Given the description of an element on the screen output the (x, y) to click on. 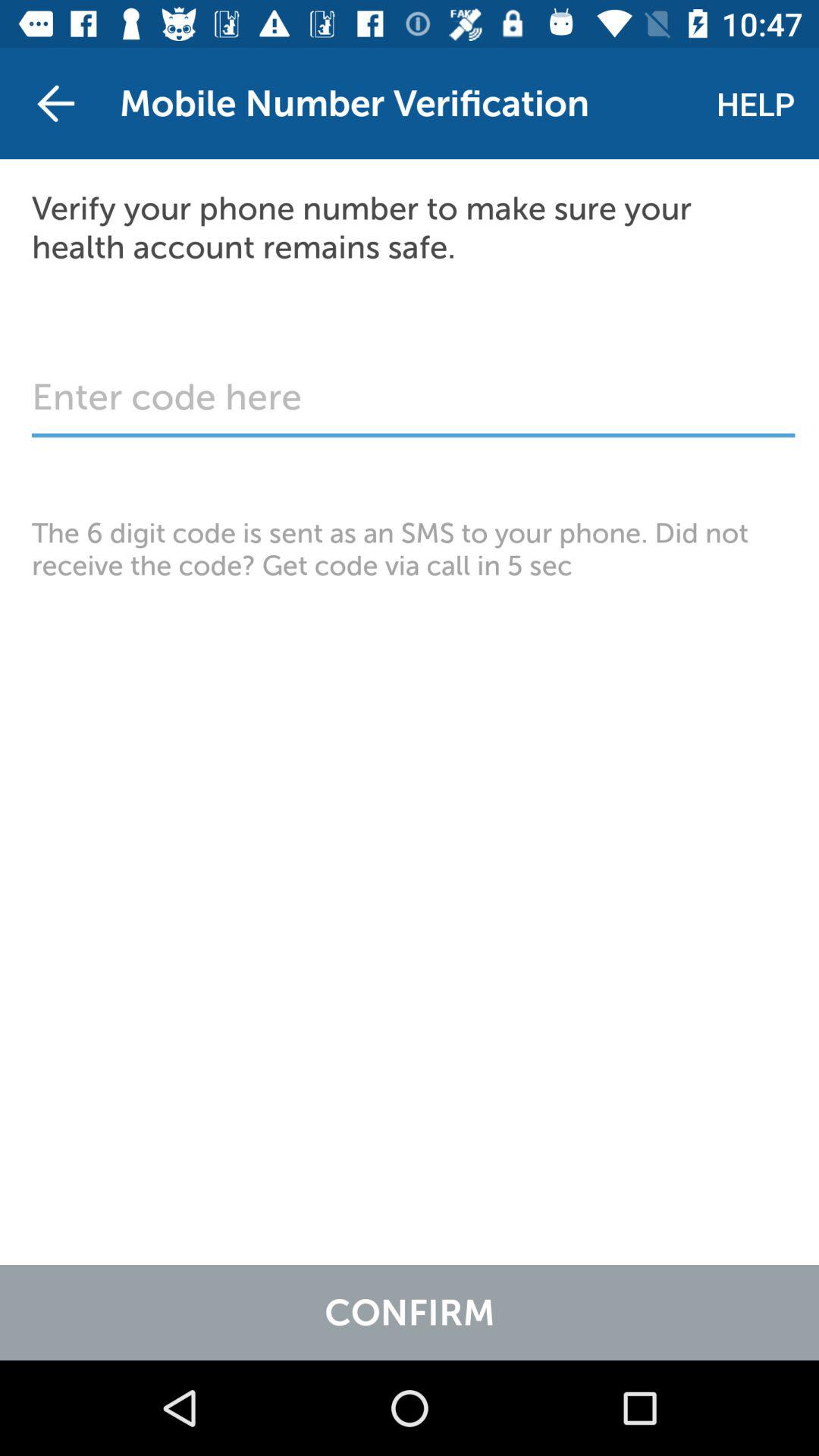
turn on the 6 digit item (409, 549)
